Given the description of an element on the screen output the (x, y) to click on. 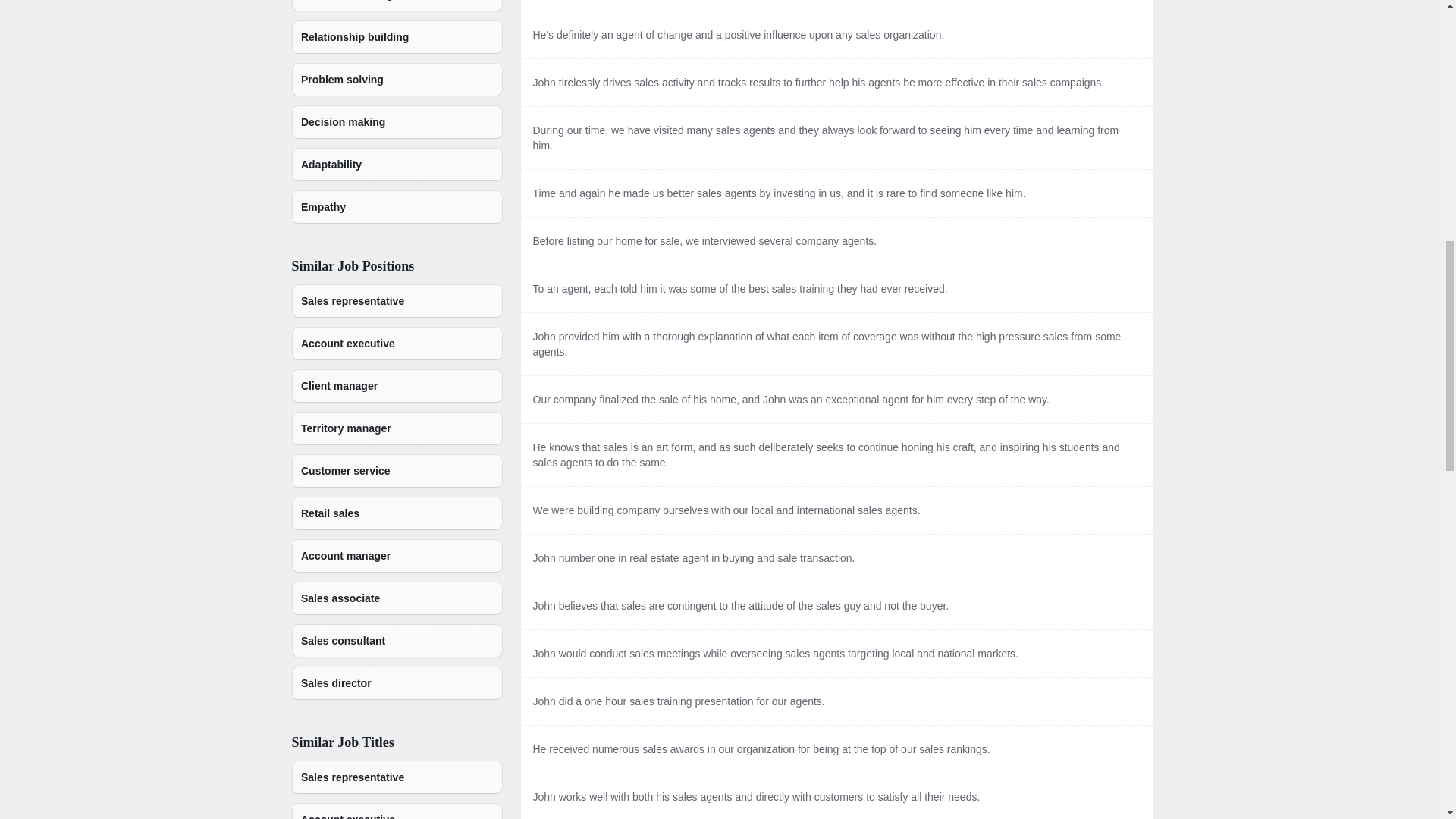
Sales director (396, 683)
Sales associate (396, 598)
Sales consultant (396, 640)
Adaptability (396, 164)
Retail sales (396, 512)
Account executive (396, 343)
Problem solving (396, 79)
Sales representative (396, 776)
Customer service (396, 470)
Product knowledge (396, 5)
